Given the description of an element on the screen output the (x, y) to click on. 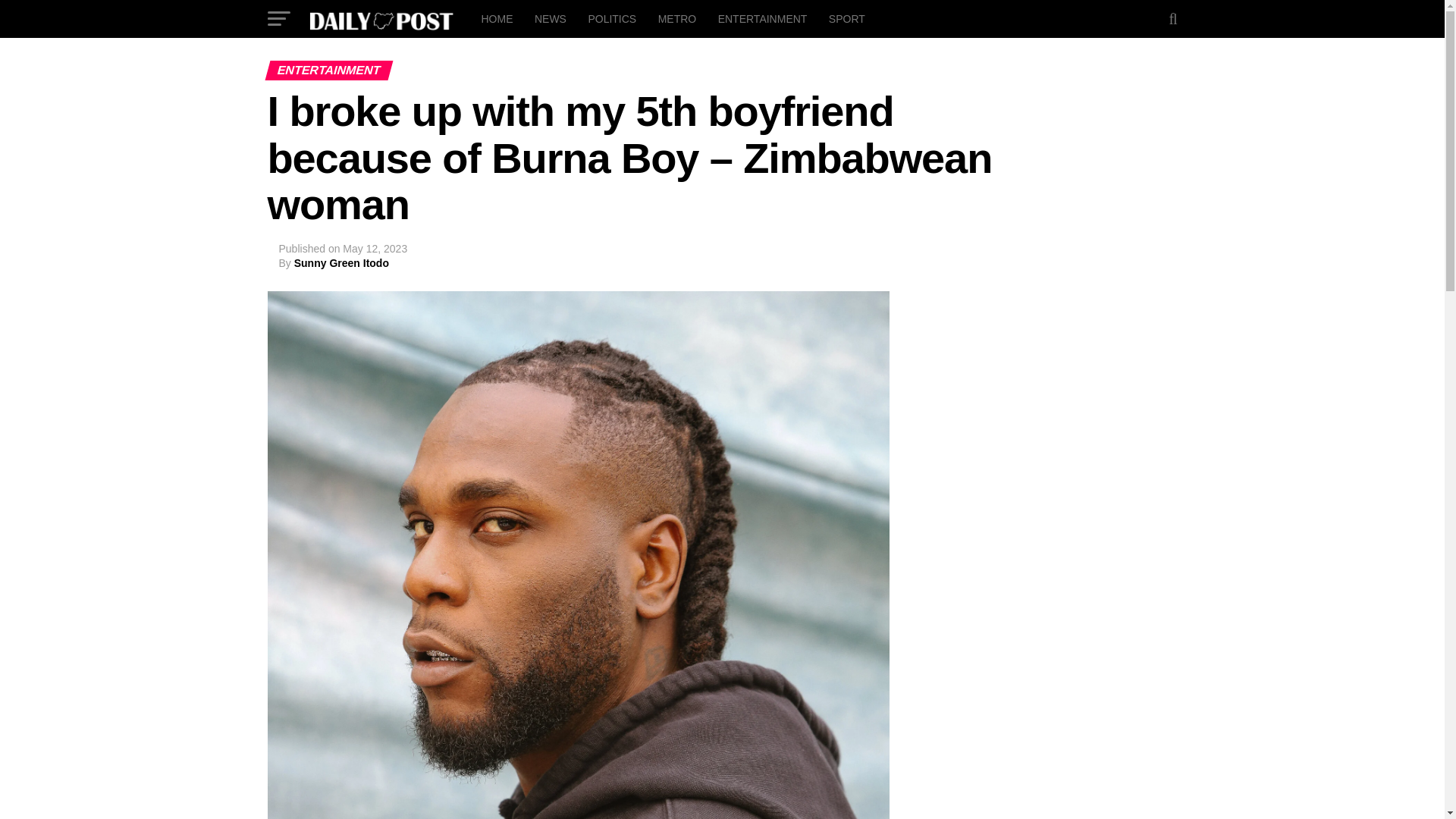
POLITICS (611, 18)
HOME (496, 18)
NEWS (550, 18)
METRO (677, 18)
Sunny Green Itodo (341, 263)
SPORT (847, 18)
Posts by Sunny Green Itodo (341, 263)
ENTERTAINMENT (762, 18)
